Given the description of an element on the screen output the (x, y) to click on. 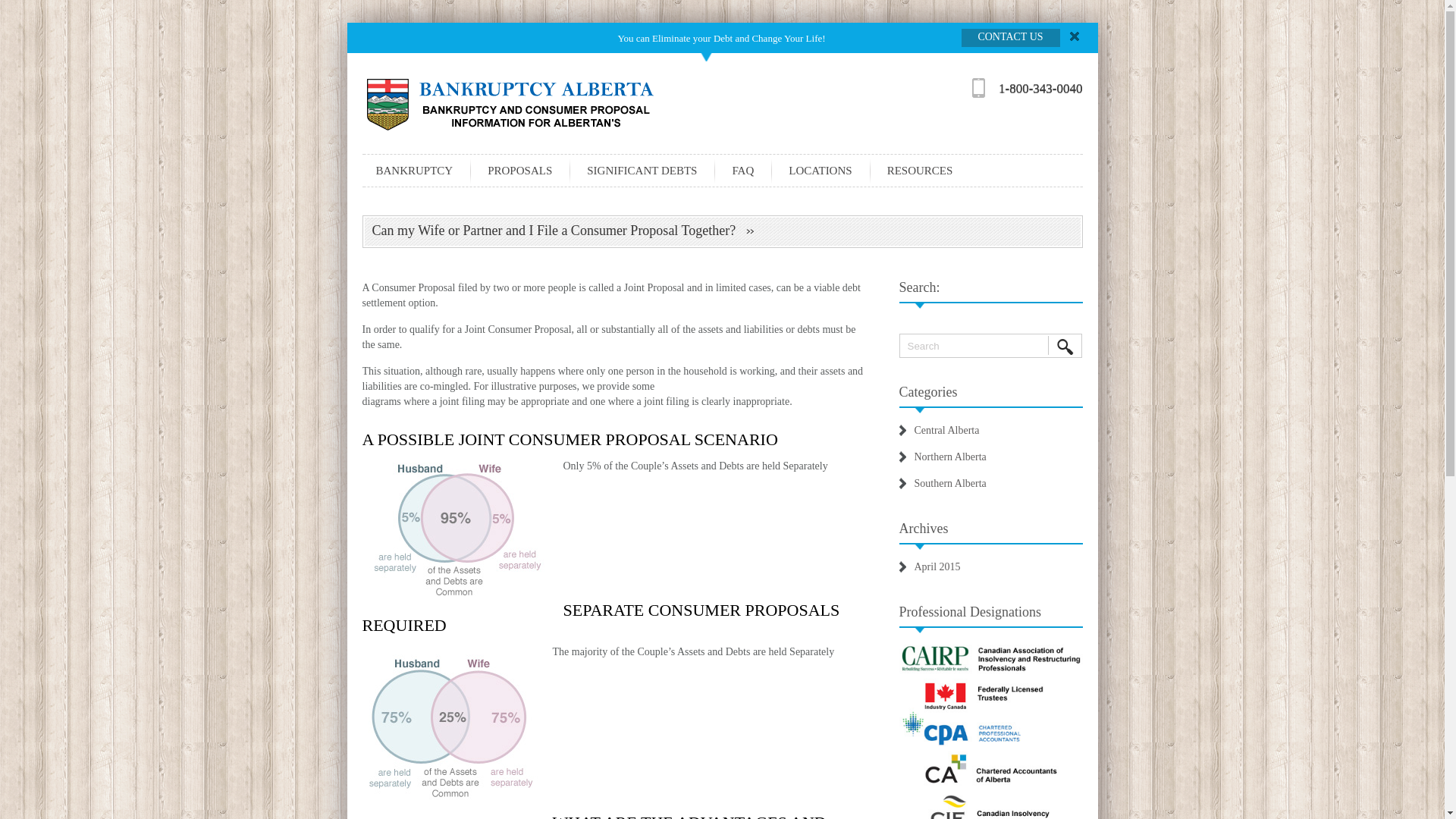
CONTACT US (1018, 40)
BANKRUPTCY (414, 170)
Search (990, 345)
